Given the description of an element on the screen output the (x, y) to click on. 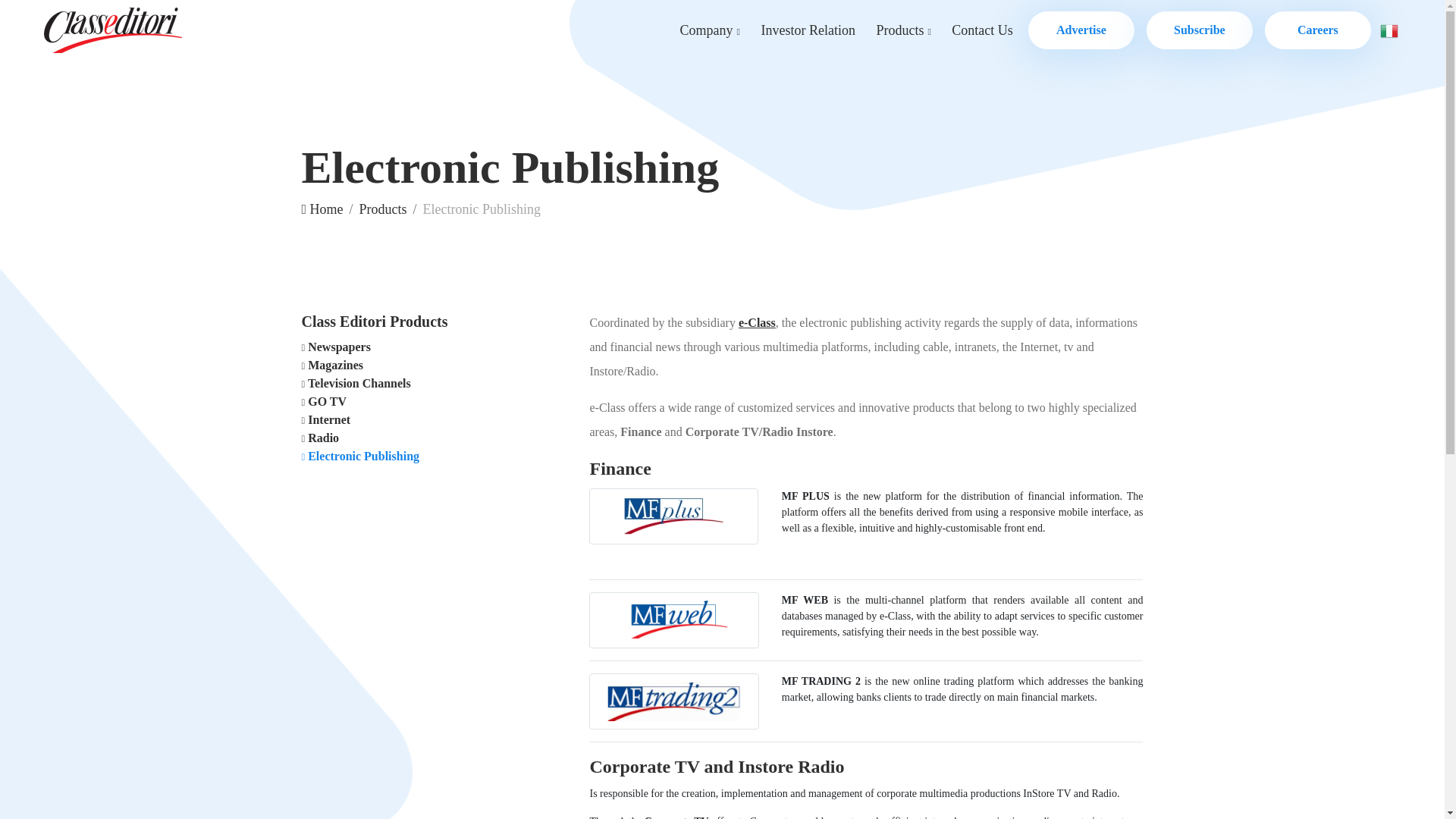
 Radio (320, 437)
 Newspapers (336, 346)
Internet (325, 419)
 Home (322, 209)
GO TV (324, 400)
 Television Channels (355, 382)
Subscribe (1199, 30)
 Magazines (332, 364)
 Electronic Publishing (360, 455)
Investor Relation (807, 29)
Products (902, 29)
Company (710, 29)
Contact Us (982, 29)
Careers (1318, 30)
Advertise (1080, 30)
